Given the description of an element on the screen output the (x, y) to click on. 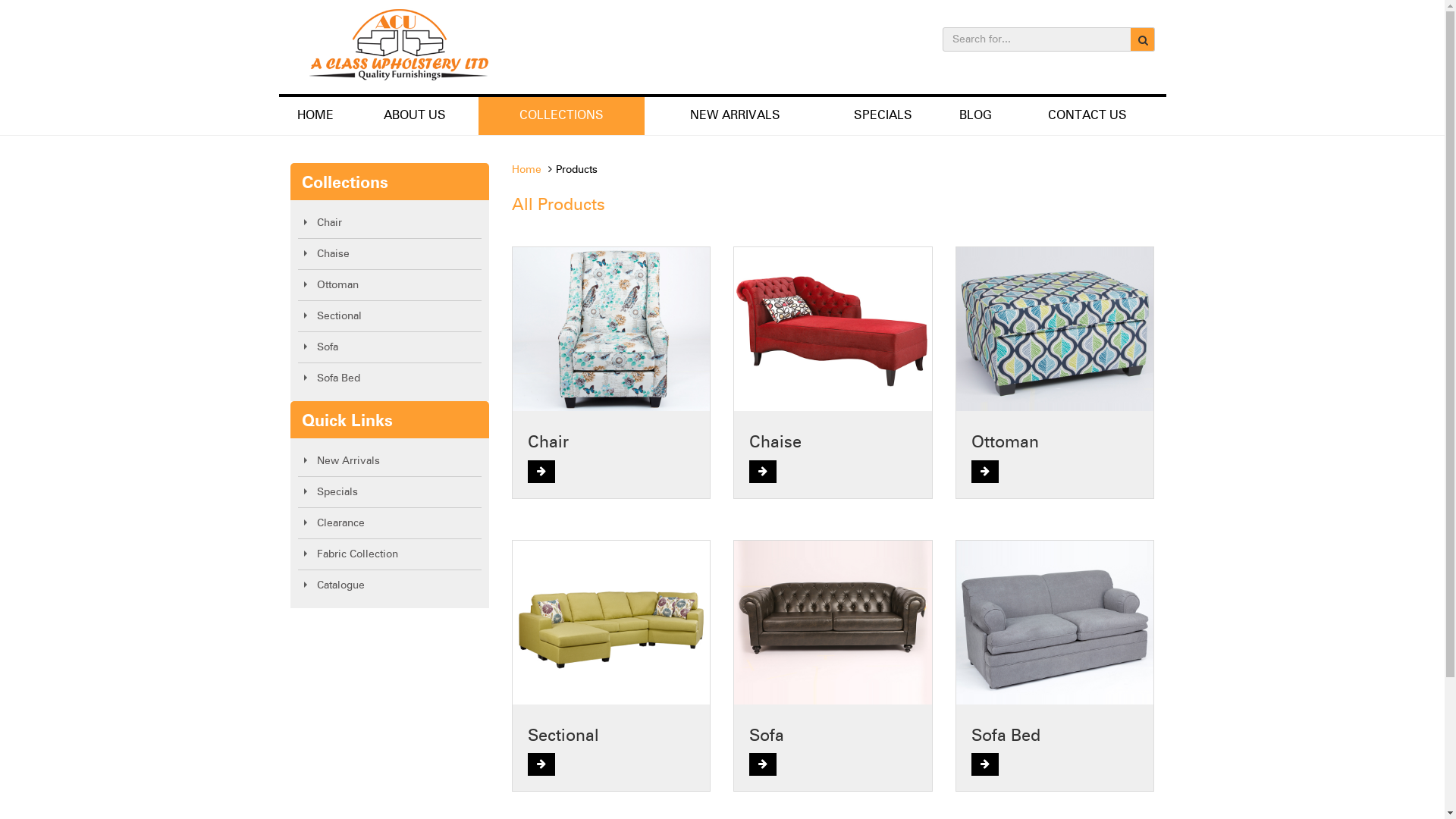
COLLECTIONS Element type: text (561, 115)
NEW ARRIVALS Element type: text (735, 115)
Chaise Element type: text (389, 253)
Catalogue Element type: text (389, 585)
SPECIALS Element type: text (883, 115)
Fabric Collection Element type: text (389, 554)
Ottoman Element type: text (389, 284)
Home Element type: text (526, 169)
New Arrivals Element type: text (389, 460)
Clearance Element type: text (389, 523)
Specials Element type: text (389, 491)
Sofa Bed Element type: text (389, 378)
CONTACT US Element type: text (1086, 115)
BLOG Element type: text (974, 115)
Sectional Element type: text (389, 316)
Sofa Element type: text (389, 347)
HOME Element type: text (315, 115)
ABOUT US Element type: text (414, 115)
Chair Element type: text (389, 222)
